Given the description of an element on the screen output the (x, y) to click on. 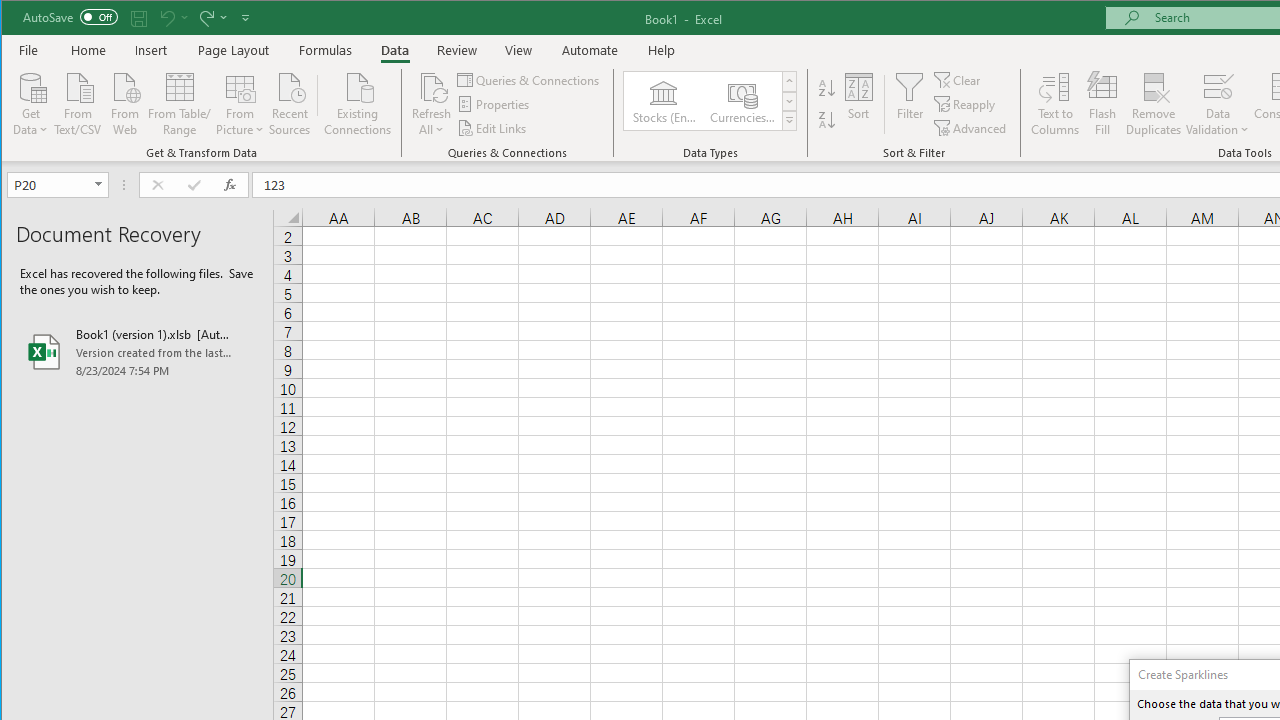
Sort Smallest to Largest (827, 88)
